Given the description of an element on the screen output the (x, y) to click on. 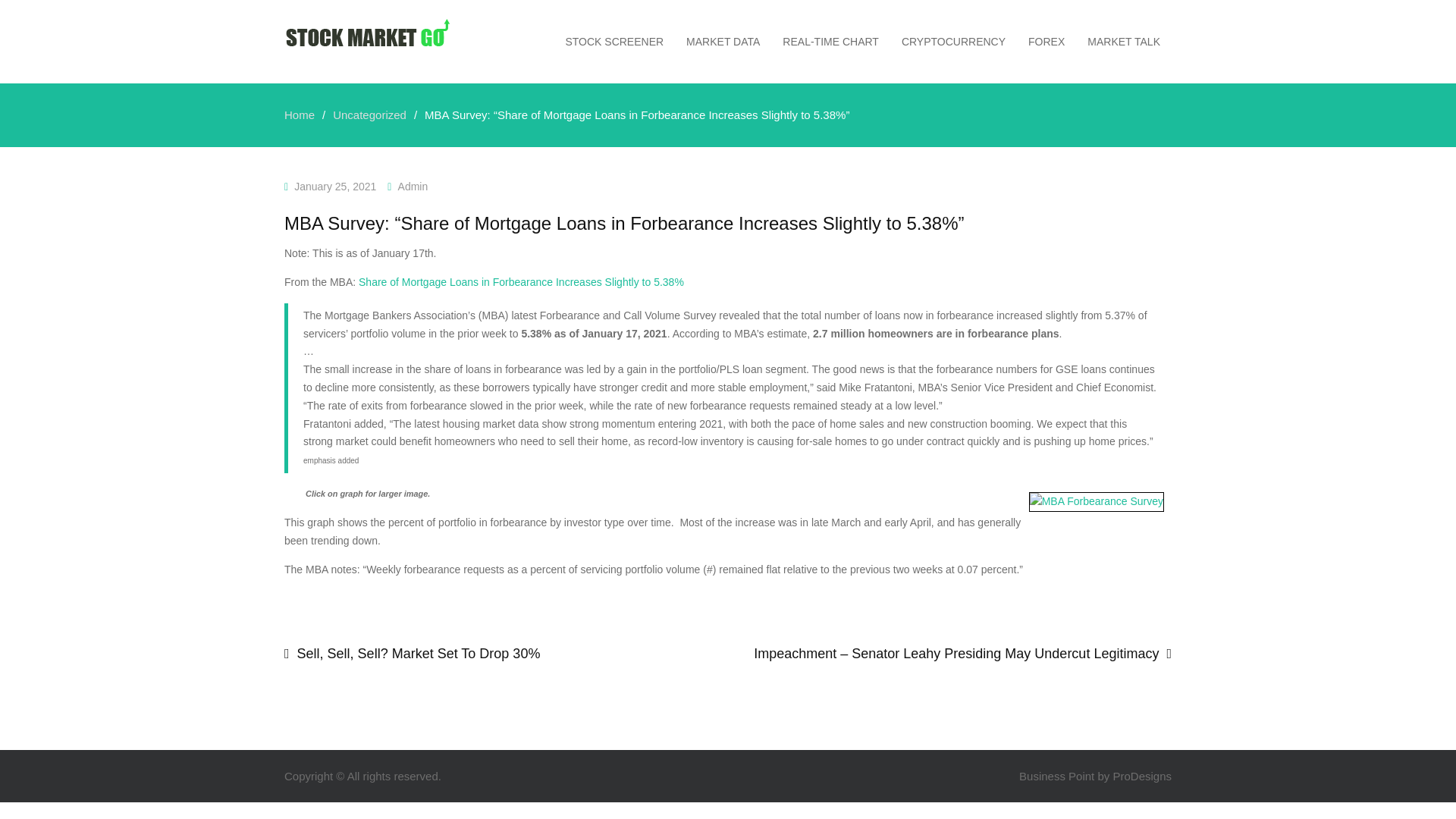
ProDesigns (1142, 775)
STOCK SCREENER (614, 41)
Home (298, 114)
MARKET DATA (723, 41)
January 25, 2021 (334, 186)
CRYPTOCURRENCY (952, 41)
Admin (412, 186)
MARKET TALK (1123, 41)
REAL-TIME CHART (830, 41)
Uncategorized (369, 114)
